Given the description of an element on the screen output the (x, y) to click on. 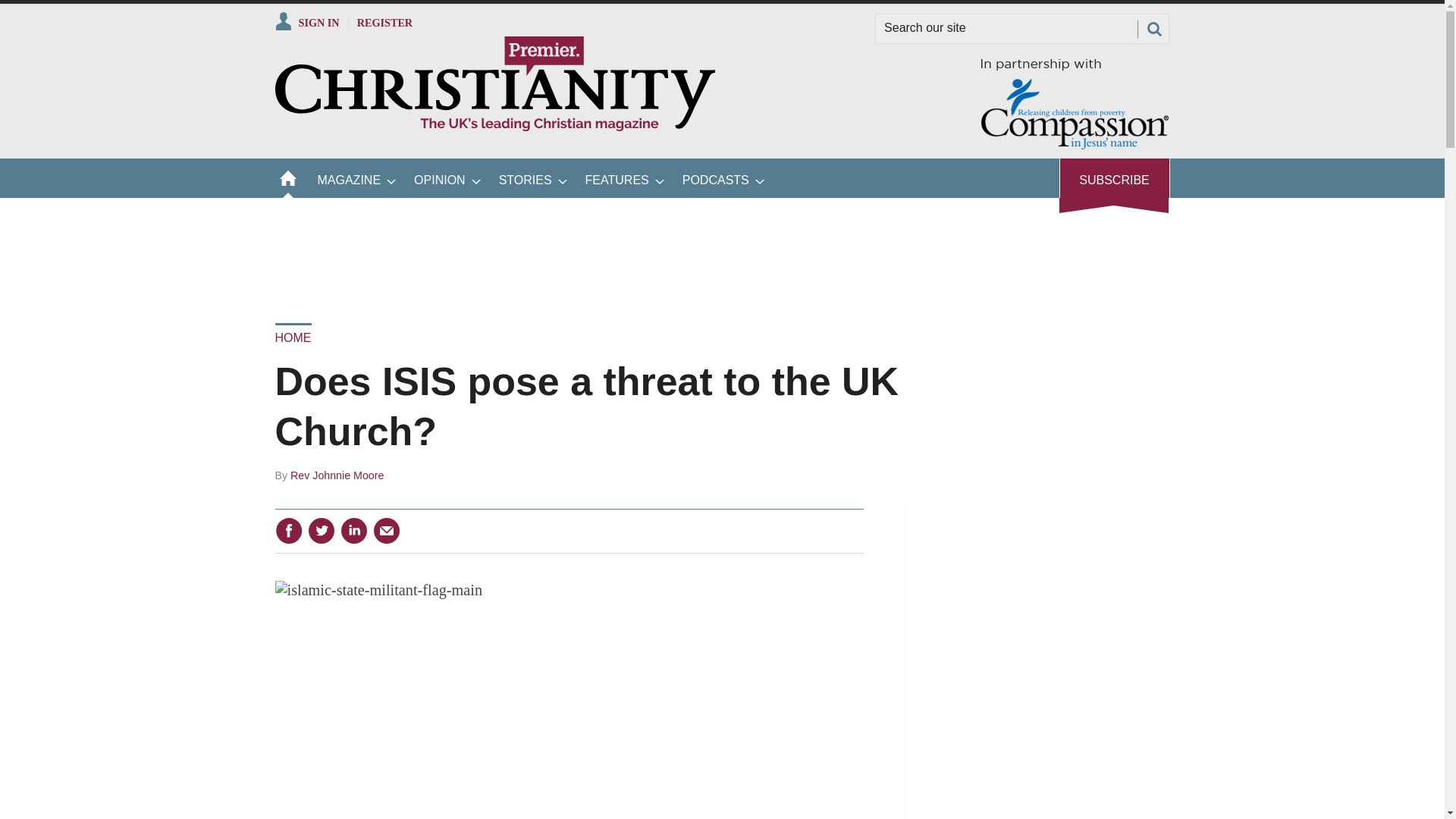
SIGN IN (307, 22)
SEARCH (1153, 28)
Email this article (386, 530)
REGISTER (384, 22)
Share this on Linked in (352, 530)
Share this on Twitter (320, 530)
Site name (494, 126)
Share this on Facebook (288, 530)
